Given the description of an element on the screen output the (x, y) to click on. 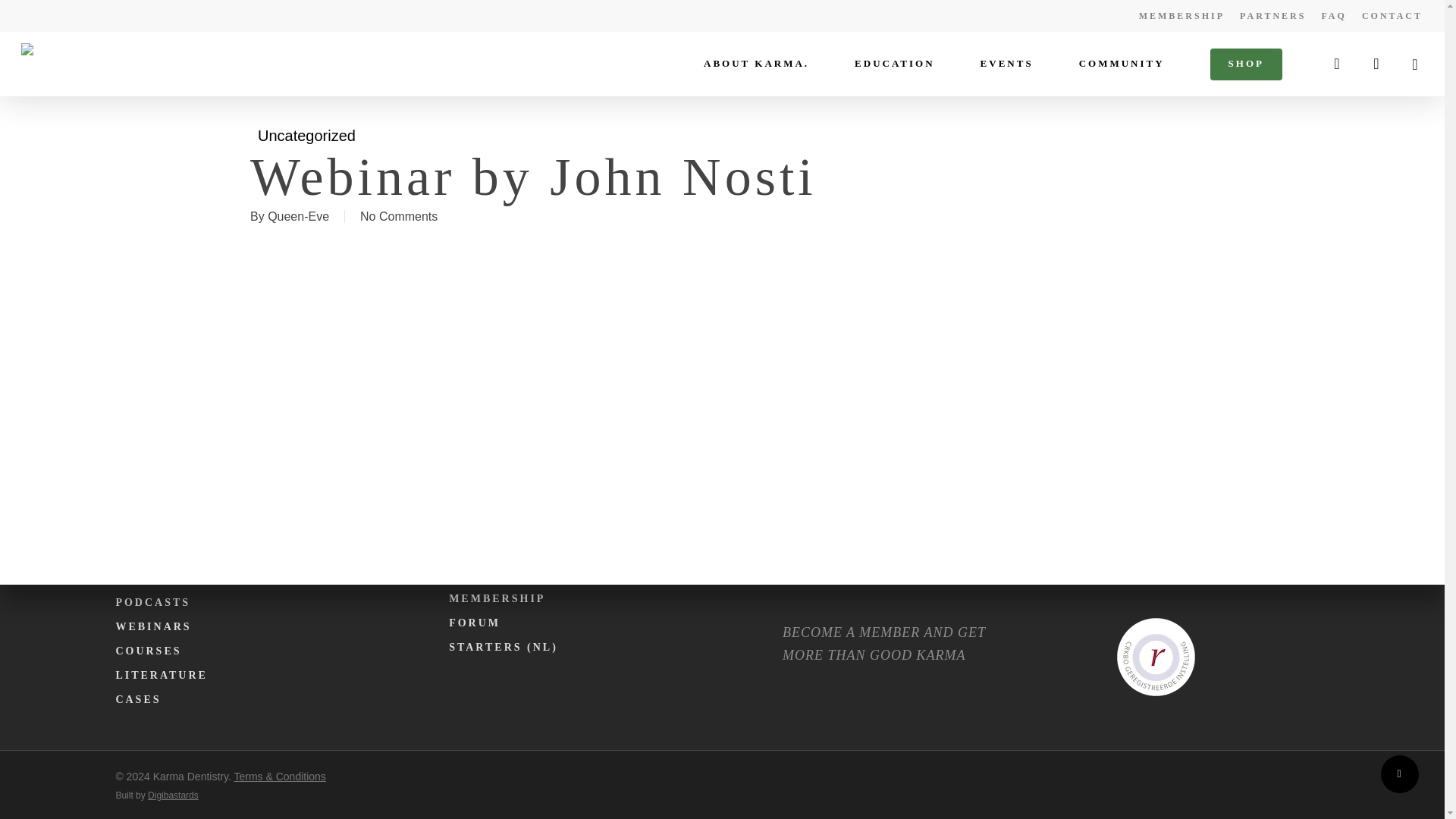
Uncategorized (306, 135)
search (1336, 64)
PARTNERS (1273, 15)
CONTACT (1391, 15)
COMMUNITY (1121, 63)
Posts by Queen-Eve (298, 215)
Queen-Eve (298, 215)
account (1376, 64)
EDUCATION (894, 63)
FAQ (1332, 15)
EVENTS (1006, 63)
MEMBERSHIP (1181, 15)
ABOUT KARMA. (756, 63)
No Comments (398, 215)
SHOP (1245, 63)
